Given the description of an element on the screen output the (x, y) to click on. 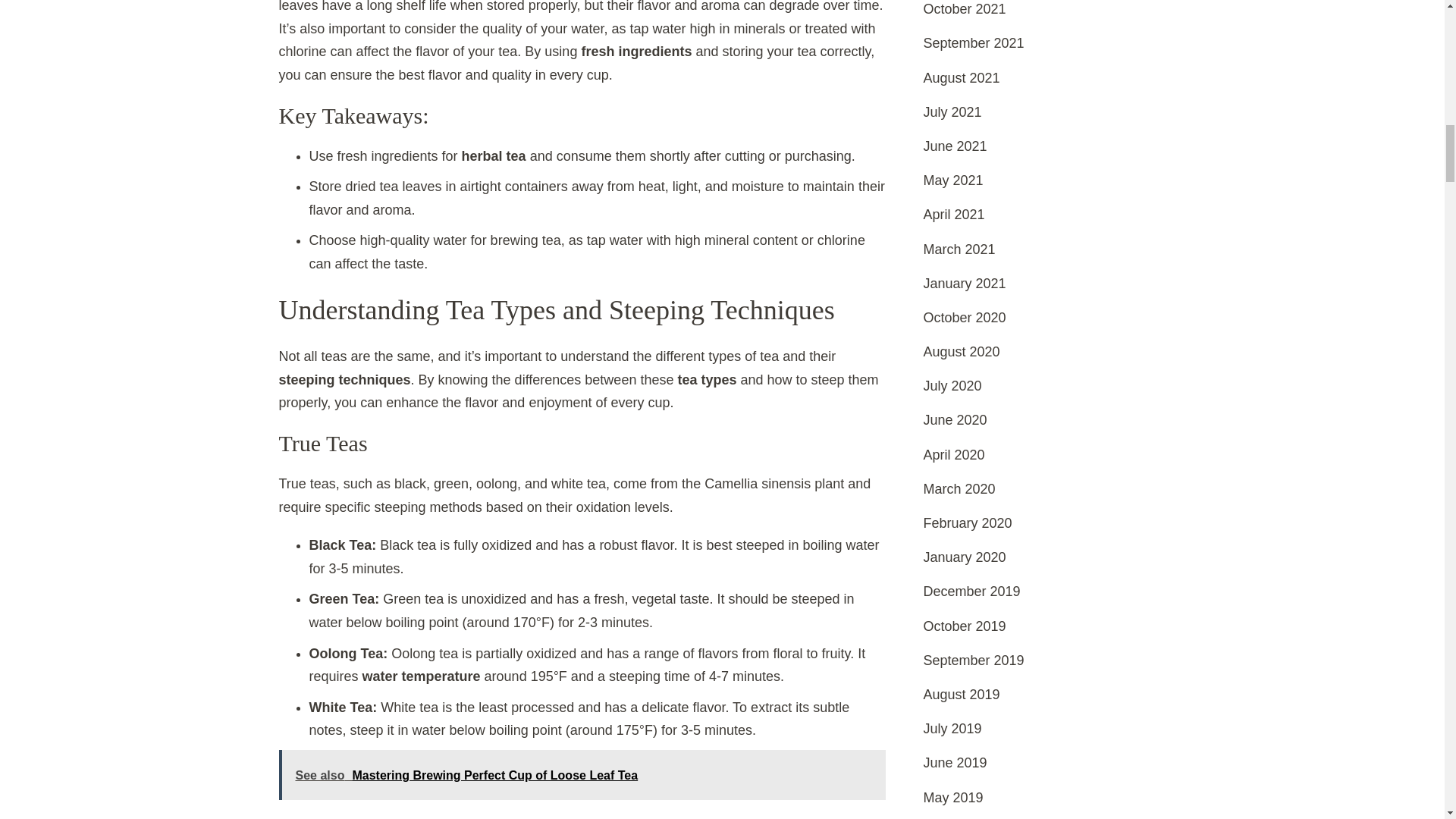
See also  Mastering Brewing Perfect Cup of Loose Leaf Tea (582, 775)
